Given the description of an element on the screen output the (x, y) to click on. 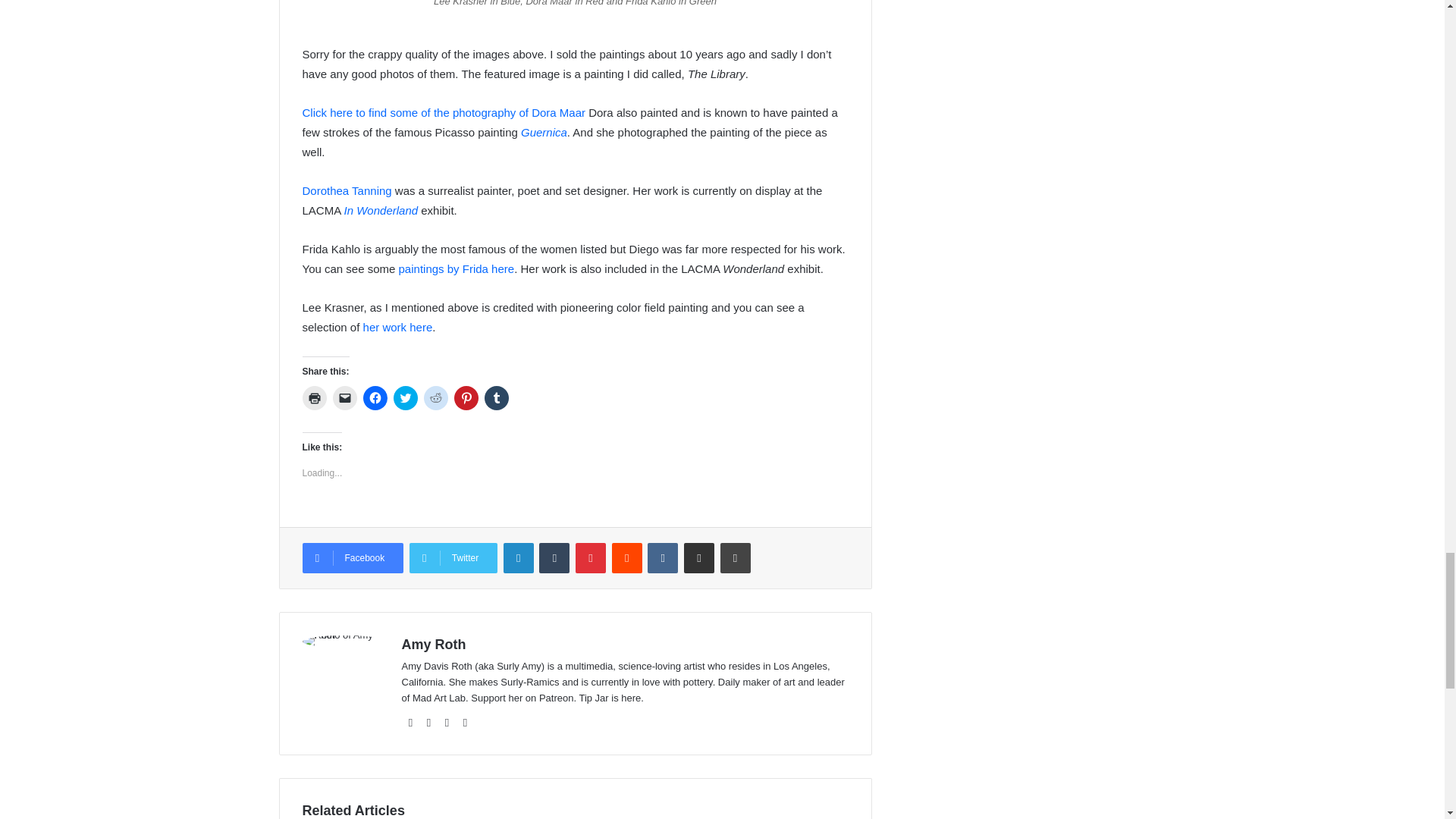
Click to share on Pinterest (464, 397)
Click to share on Reddit (434, 397)
Click to email a link to a friend (343, 397)
In Wonderland (381, 210)
Click here to find some of the photography of Dora Maar (443, 112)
Click to share on Tumblr (495, 397)
Click to share on Twitter (404, 397)
Guernica (544, 132)
Dorothea Tanning (346, 190)
paintings by Frida here (456, 268)
Click to share on Facebook (374, 397)
her work here (397, 327)
Click to print (313, 397)
Twitter (453, 557)
LinkedIn (518, 557)
